Given the description of an element on the screen output the (x, y) to click on. 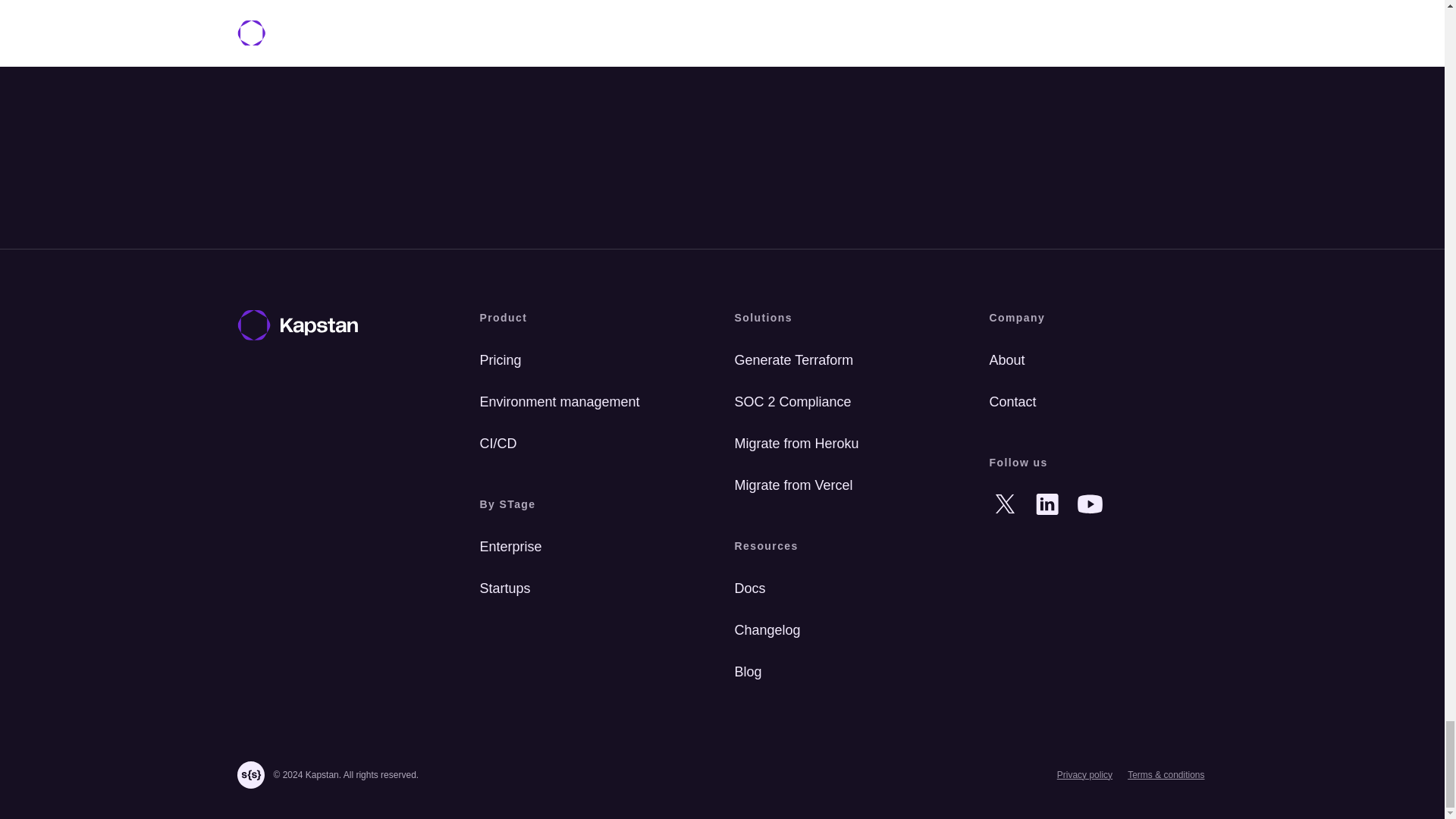
Migrate from Vercel (842, 485)
Startups (588, 588)
Pricing (588, 359)
Migrate from Heroku (842, 443)
Changelog (842, 630)
Contact (1097, 401)
Environment management (588, 401)
Docs (842, 588)
SOC 2 Compliance (842, 401)
Blog (842, 672)
Enterprise (588, 546)
Generate Terraform (842, 359)
About (1097, 359)
